Given the description of an element on the screen output the (x, y) to click on. 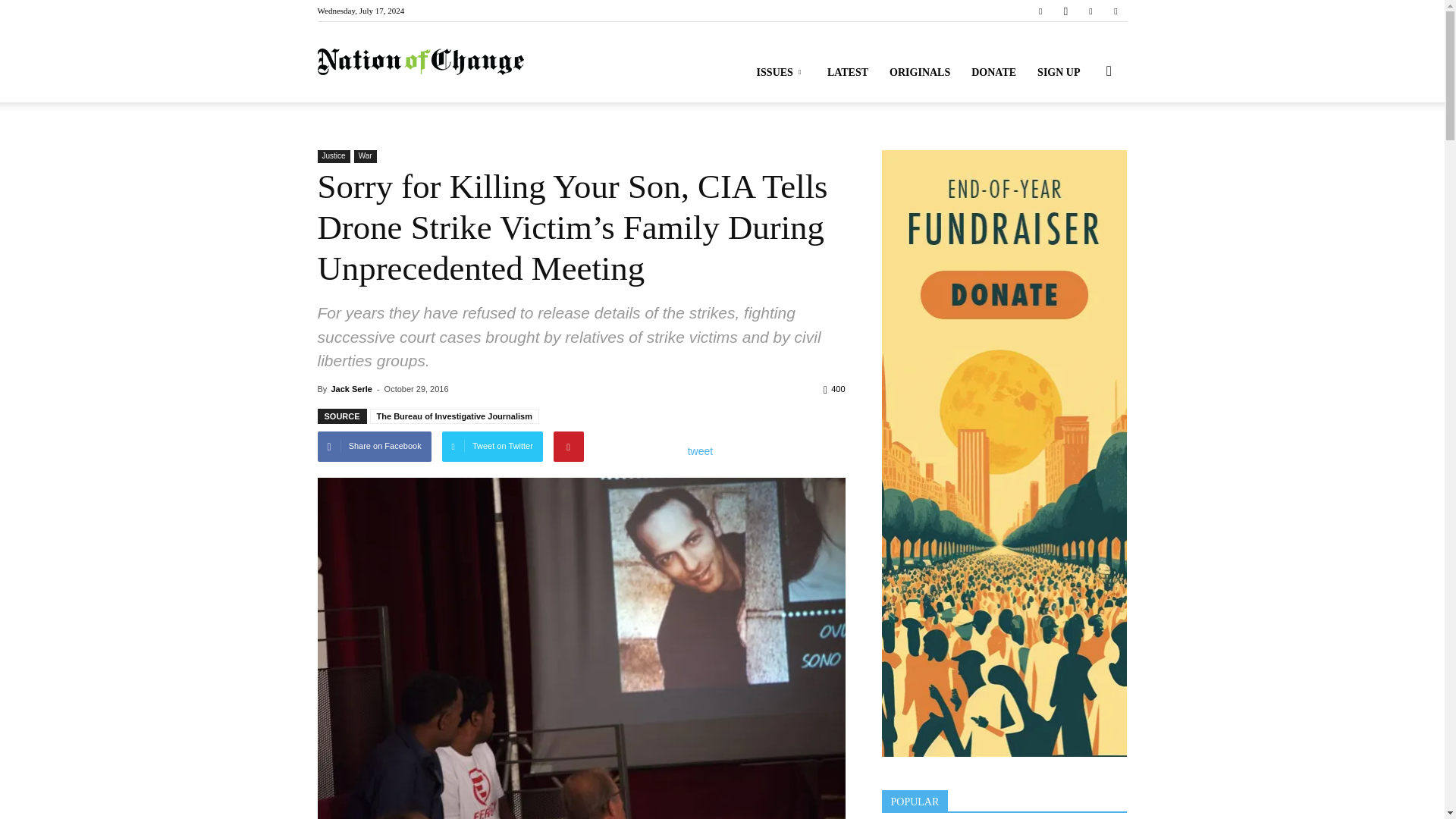
Facebook (1040, 10)
NationofChange (419, 61)
ISSUES (780, 72)
Instagram (1065, 10)
Youtube (1114, 10)
Twitter (1090, 10)
